Given the description of an element on the screen output the (x, y) to click on. 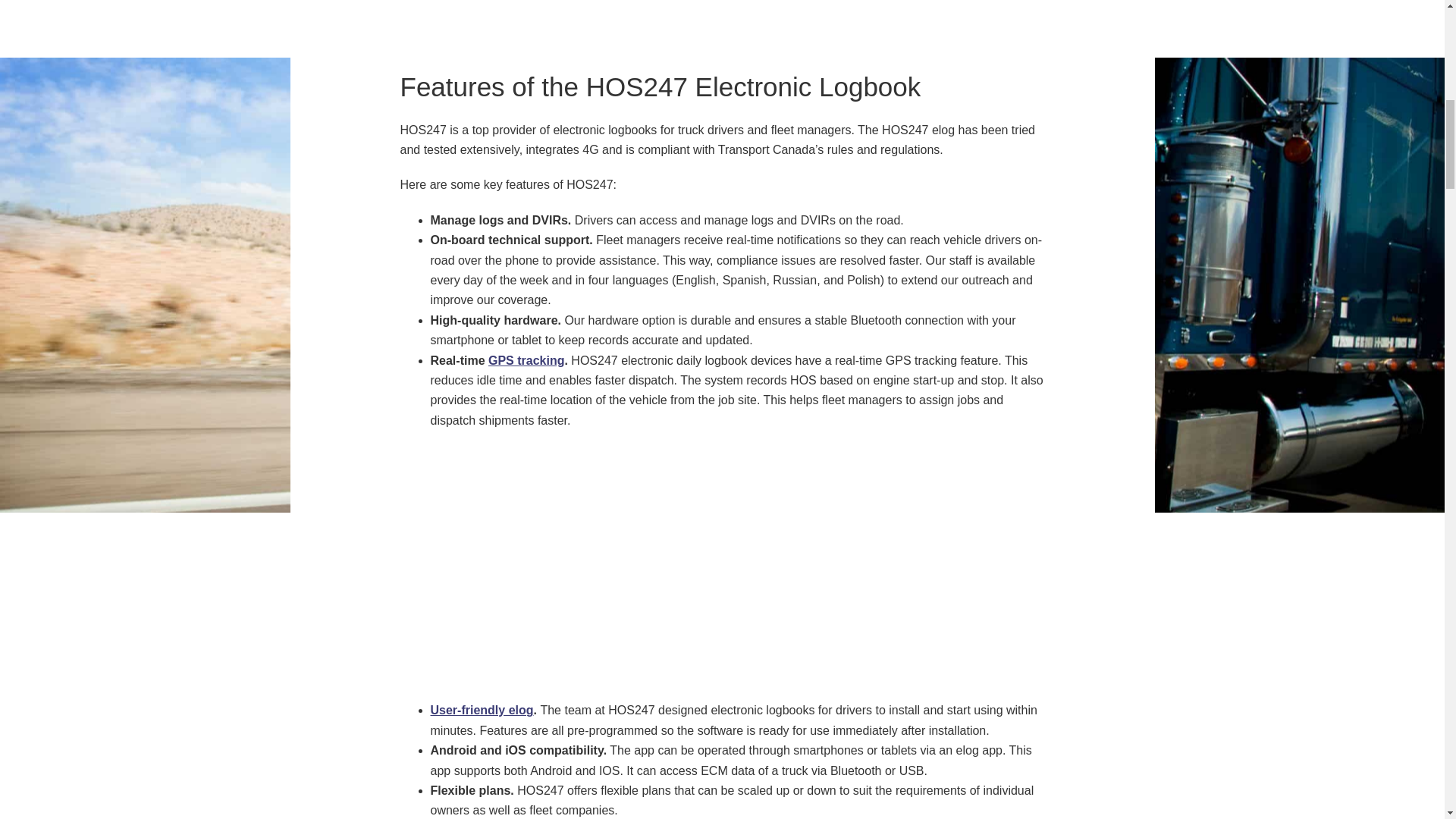
GPS tracking (525, 359)
User-friendly elog (482, 709)
